Given the description of an element on the screen output the (x, y) to click on. 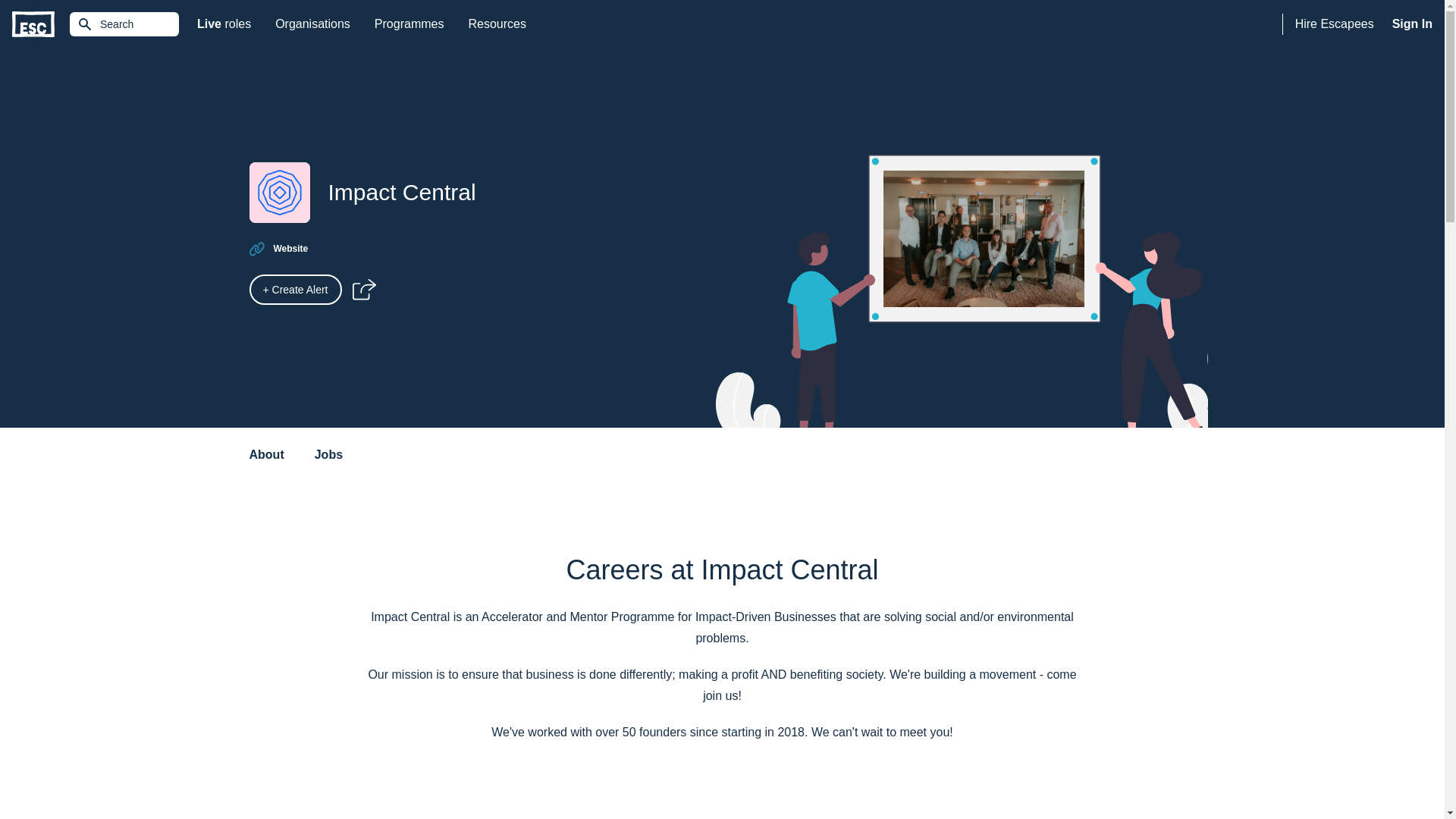
Organisations (312, 24)
Programmes (409, 24)
Sign In (1411, 24)
Hire Escapees (1334, 24)
Resources (496, 24)
Escape the City (33, 24)
Search (124, 24)
Website (223, 24)
